Given the description of an element on the screen output the (x, y) to click on. 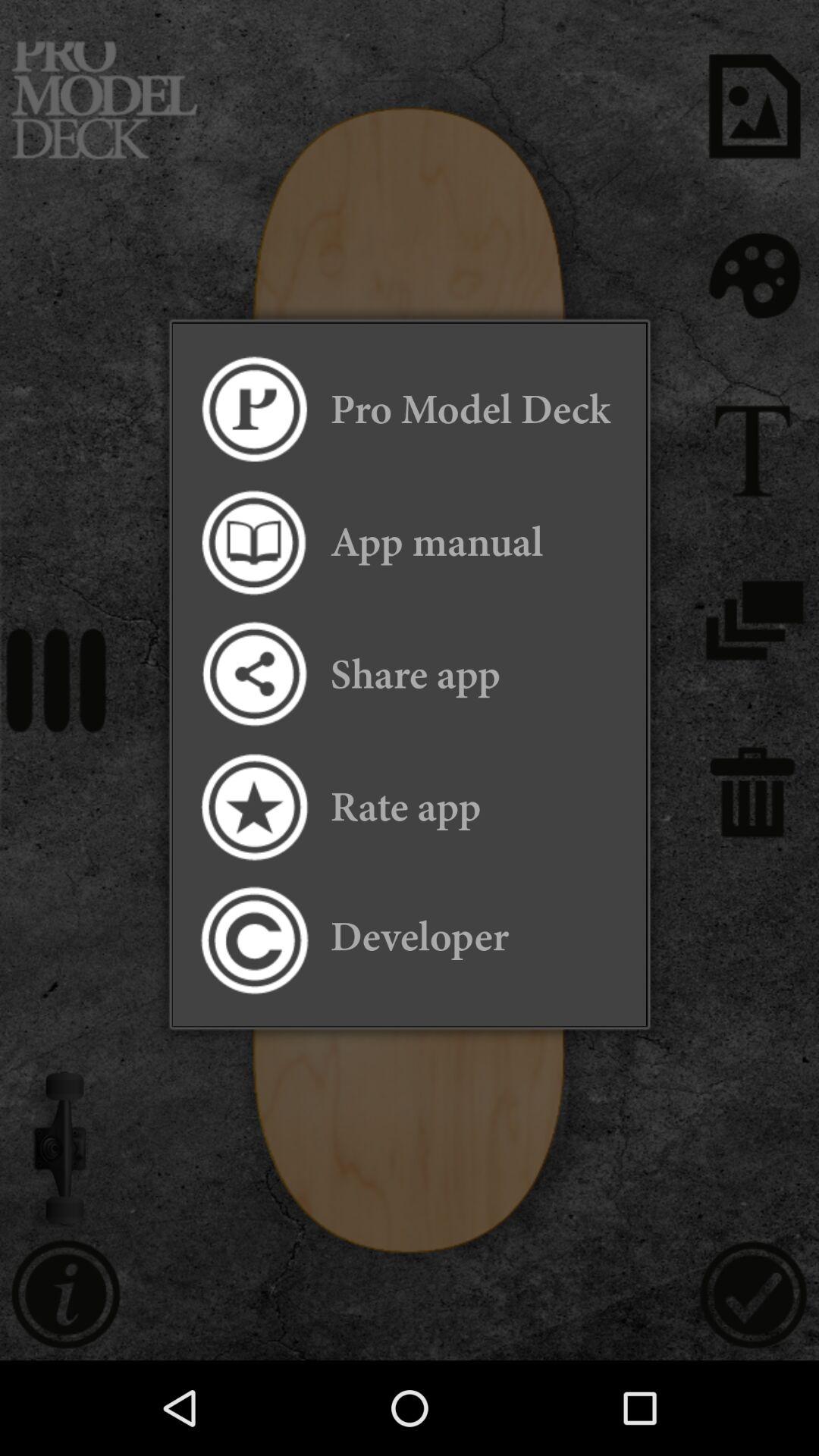
rate app option (253, 807)
